Given the description of an element on the screen output the (x, y) to click on. 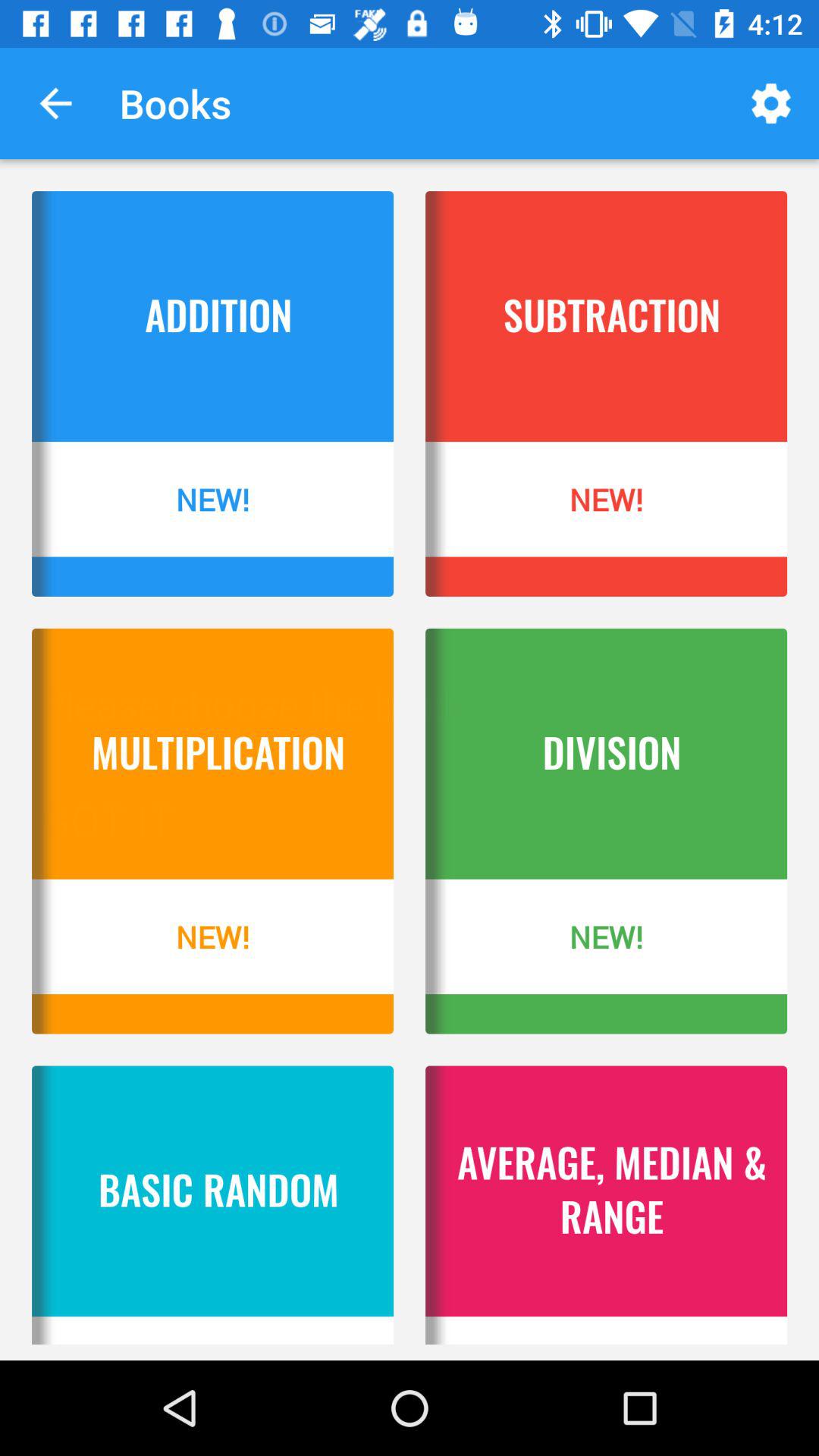
turn on the icon above the addition icon (55, 103)
